Given the description of an element on the screen output the (x, y) to click on. 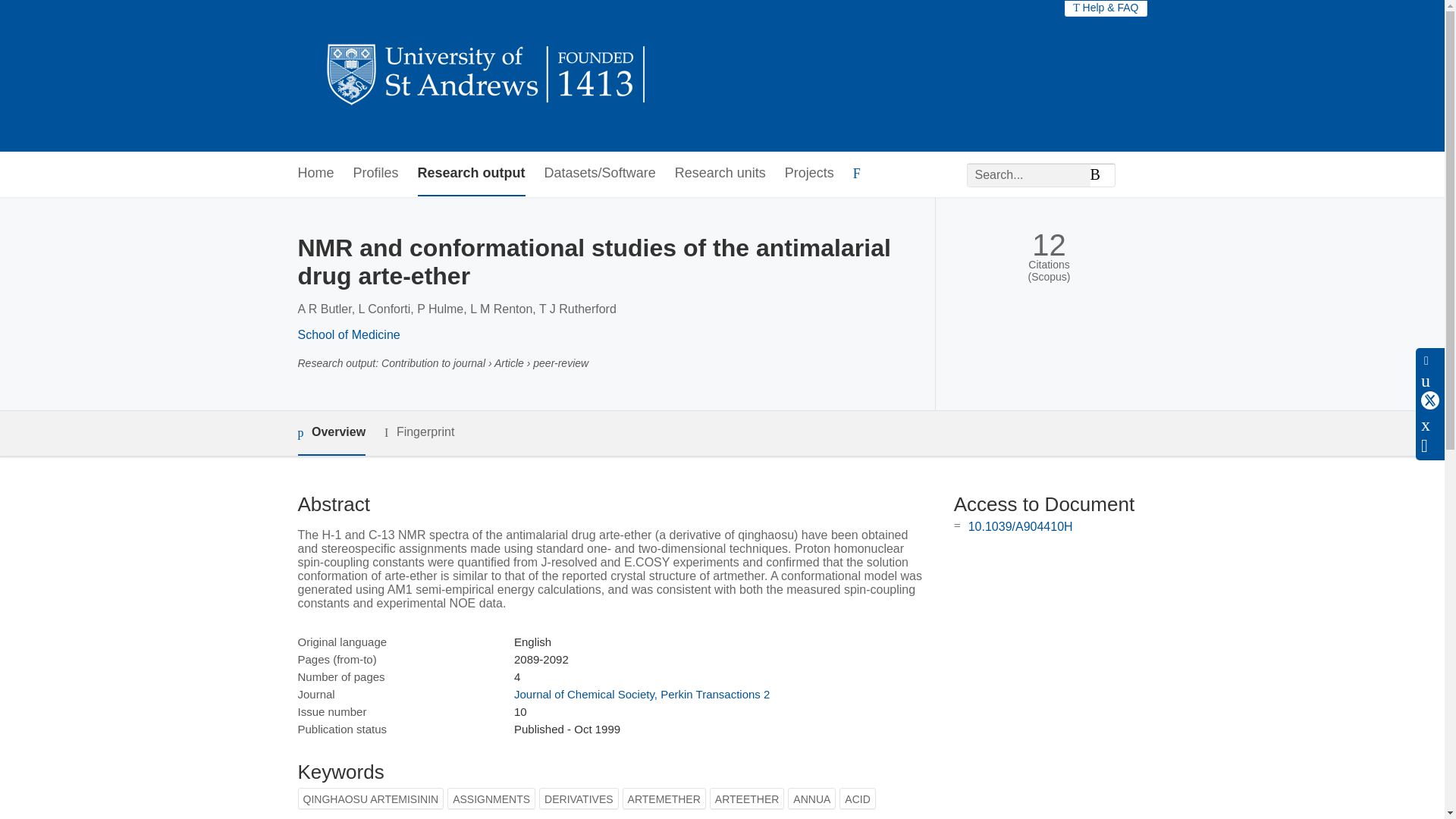
Profiles (375, 173)
Journal of Chemical Society, Perkin Transactions 2 (641, 694)
School of Medicine (347, 334)
Fingerprint (419, 432)
Research units (720, 173)
Overview (331, 433)
Research output (471, 173)
Projects (809, 173)
University of St Andrews Research Portal Home (487, 75)
